Given the description of an element on the screen output the (x, y) to click on. 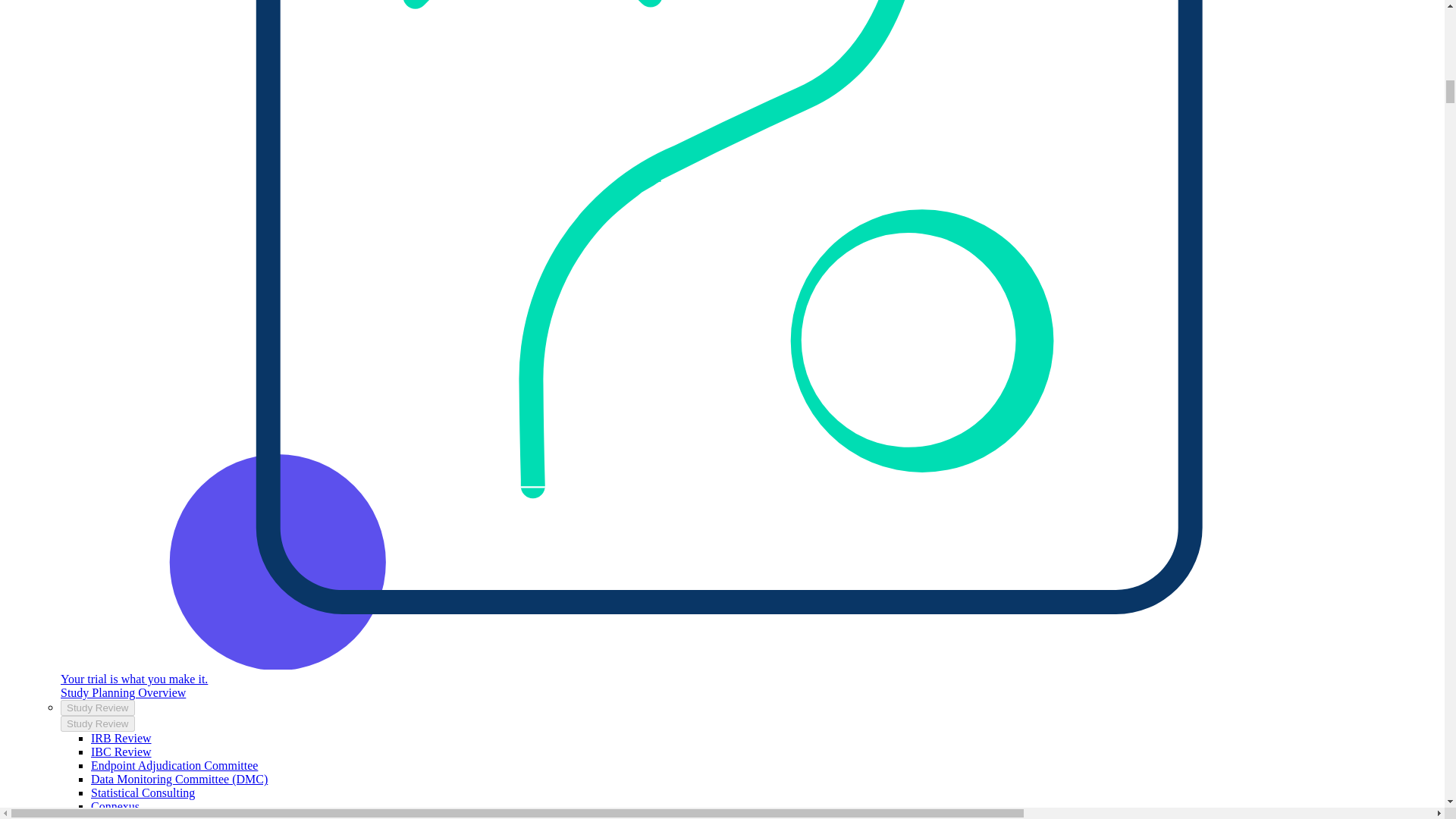
IBC Review (120, 751)
Study Review (142, 792)
IRB Review (98, 723)
Study Review (120, 738)
Connexus (98, 707)
Endpoint Adjudication Committee (114, 806)
